Given the description of an element on the screen output the (x, y) to click on. 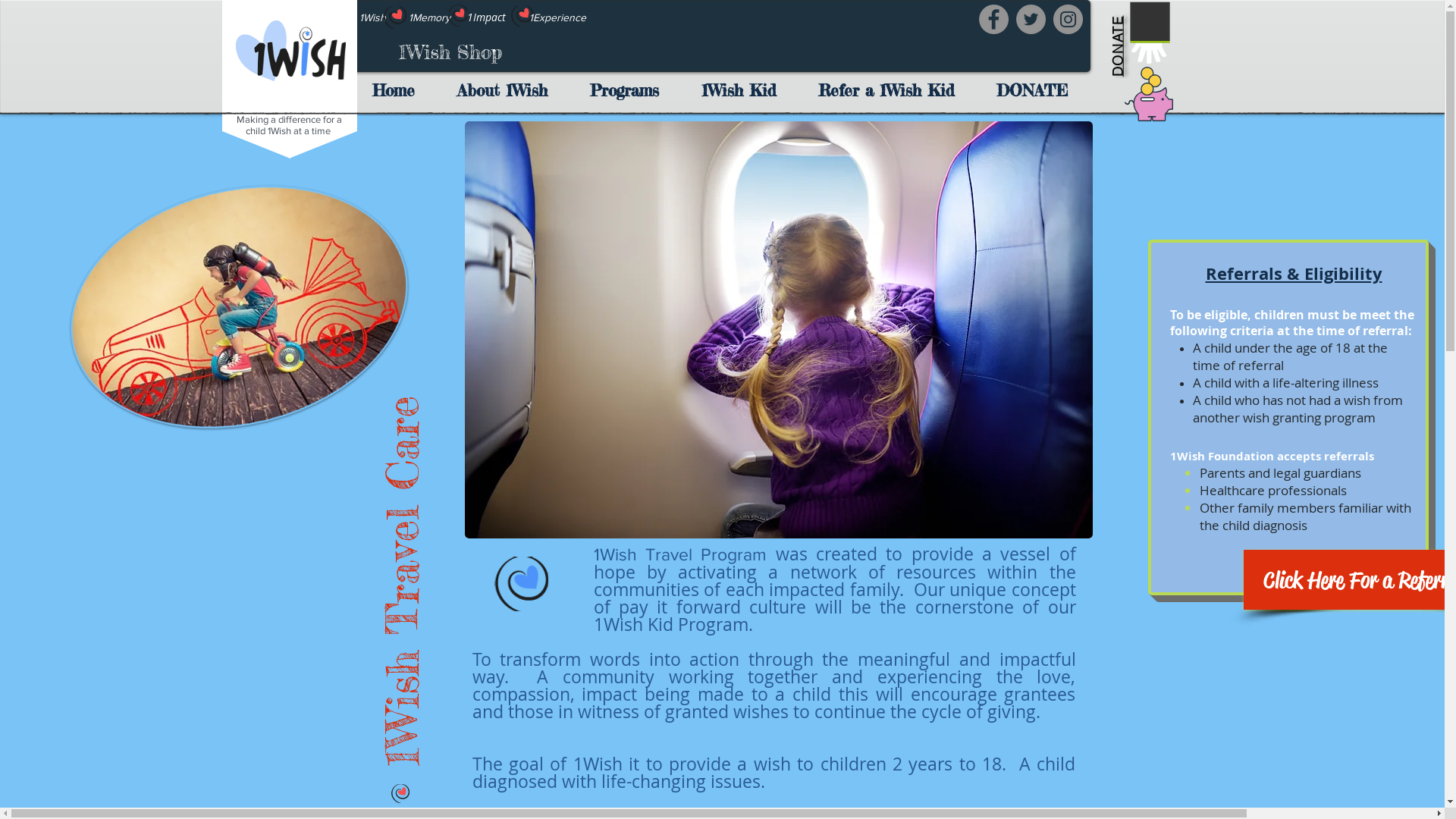
Refer a 1Wish Kid Element type: text (891, 88)
About 1Wish Element type: text (507, 88)
Programs Element type: text (630, 88)
Home Element type: text (398, 88)
1Wish Kid Element type: text (743, 88)
DONATE Element type: text (1138, 23)
1Wish Shop Element type: text (449, 52)
DONATE Element type: text (1037, 88)
